Given the description of an element on the screen output the (x, y) to click on. 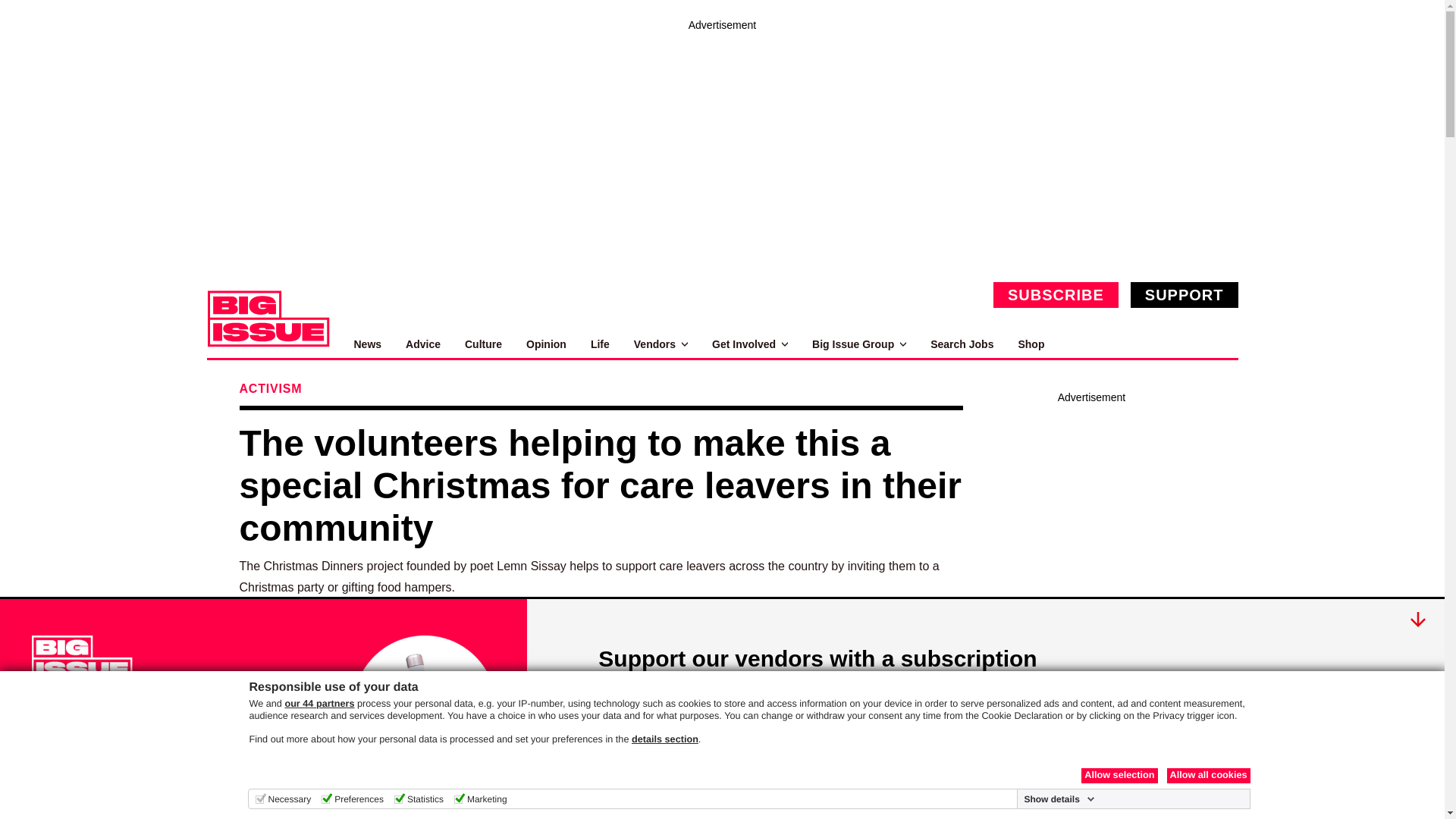
Show details (1058, 799)
details section (664, 738)
Allow all cookies (1207, 775)
Allow selection (1119, 775)
our 44 partners (318, 703)
